Given the description of an element on the screen output the (x, y) to click on. 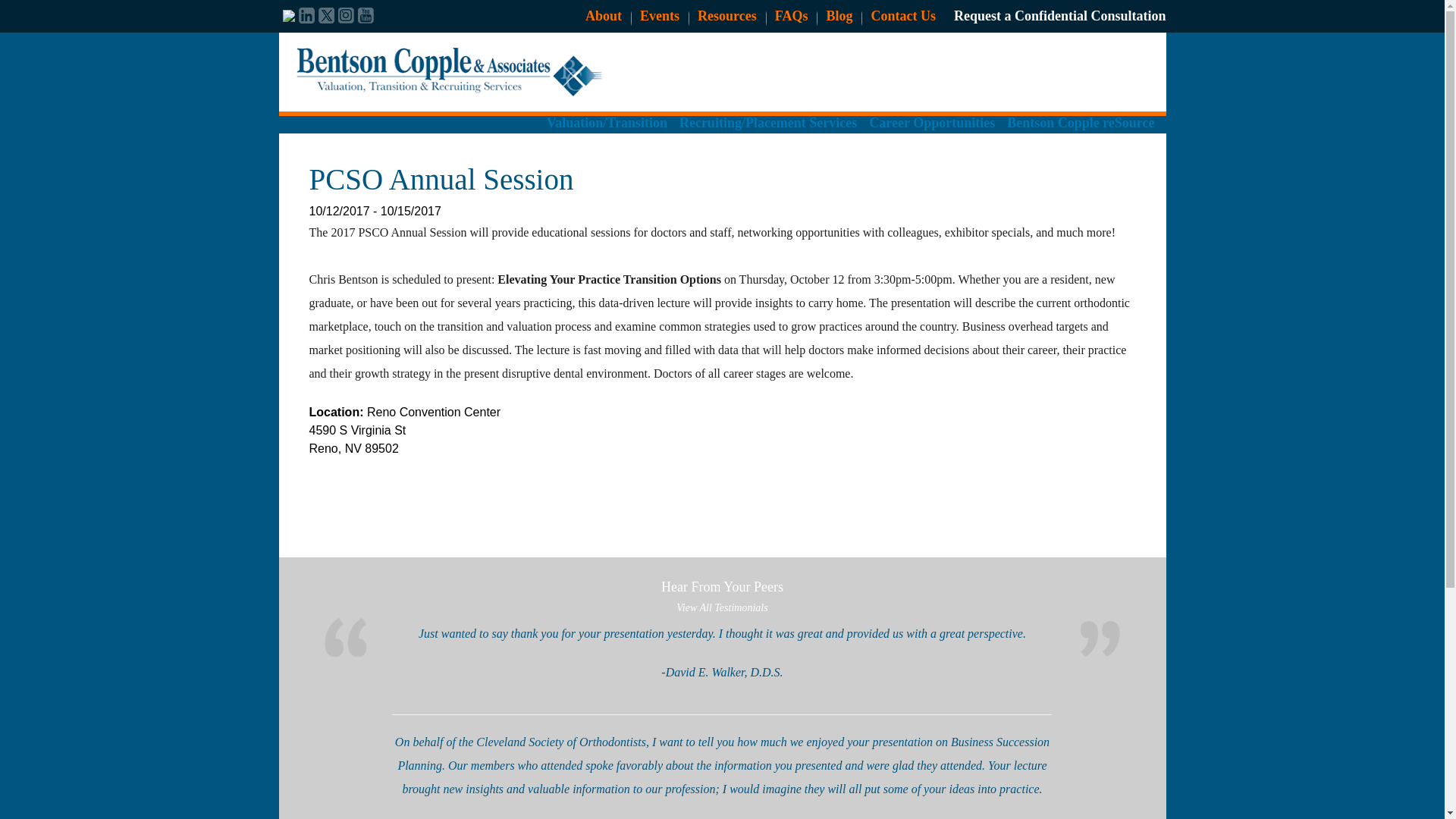
Career Opportunities (931, 129)
Blog (838, 15)
Events (659, 15)
Bentson Copple reSource (1080, 129)
Request a Confidential Consultation (1059, 15)
FAQs (791, 15)
About (603, 15)
Resources (727, 15)
View All Testimonials (722, 607)
Contact Us (903, 15)
